Given the description of an element on the screen output the (x, y) to click on. 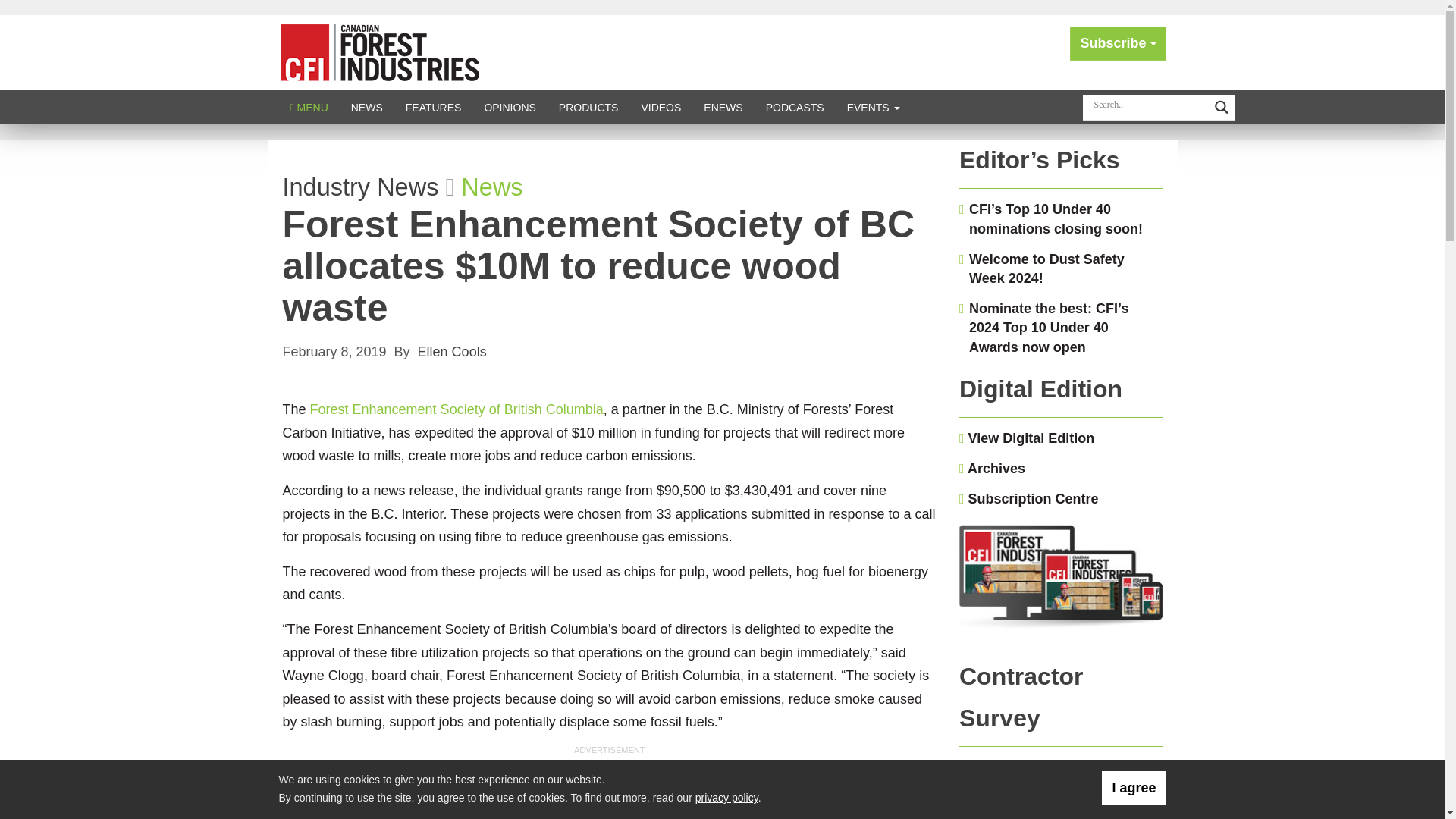
ENEWS (723, 107)
EVENTS (873, 107)
MENU (309, 107)
NEWS (366, 107)
FEATURES (433, 107)
Subscribe (1118, 43)
VIDEOS (660, 107)
Click to show site navigation (309, 107)
PRODUCTS (588, 107)
PODCASTS (794, 107)
Wood Business (379, 51)
OPINIONS (509, 107)
